Given the description of an element on the screen output the (x, y) to click on. 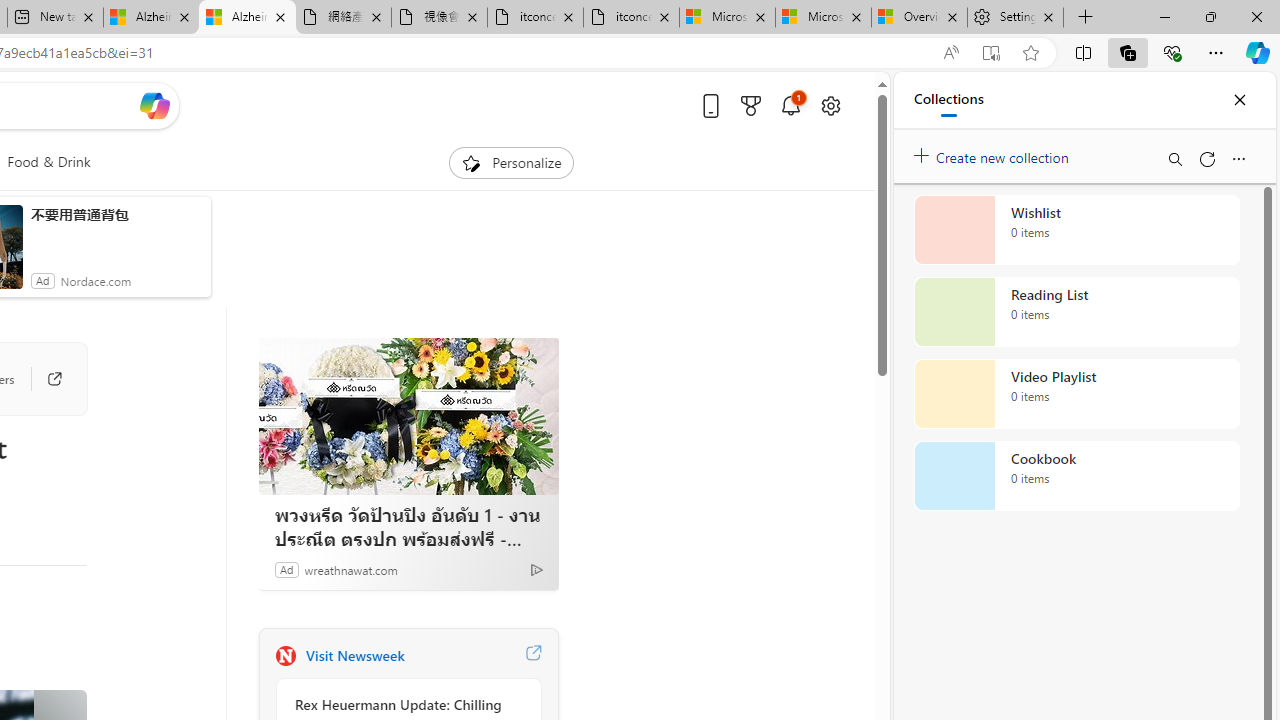
wreathnawat.com (351, 569)
